Given the description of an element on the screen output the (x, y) to click on. 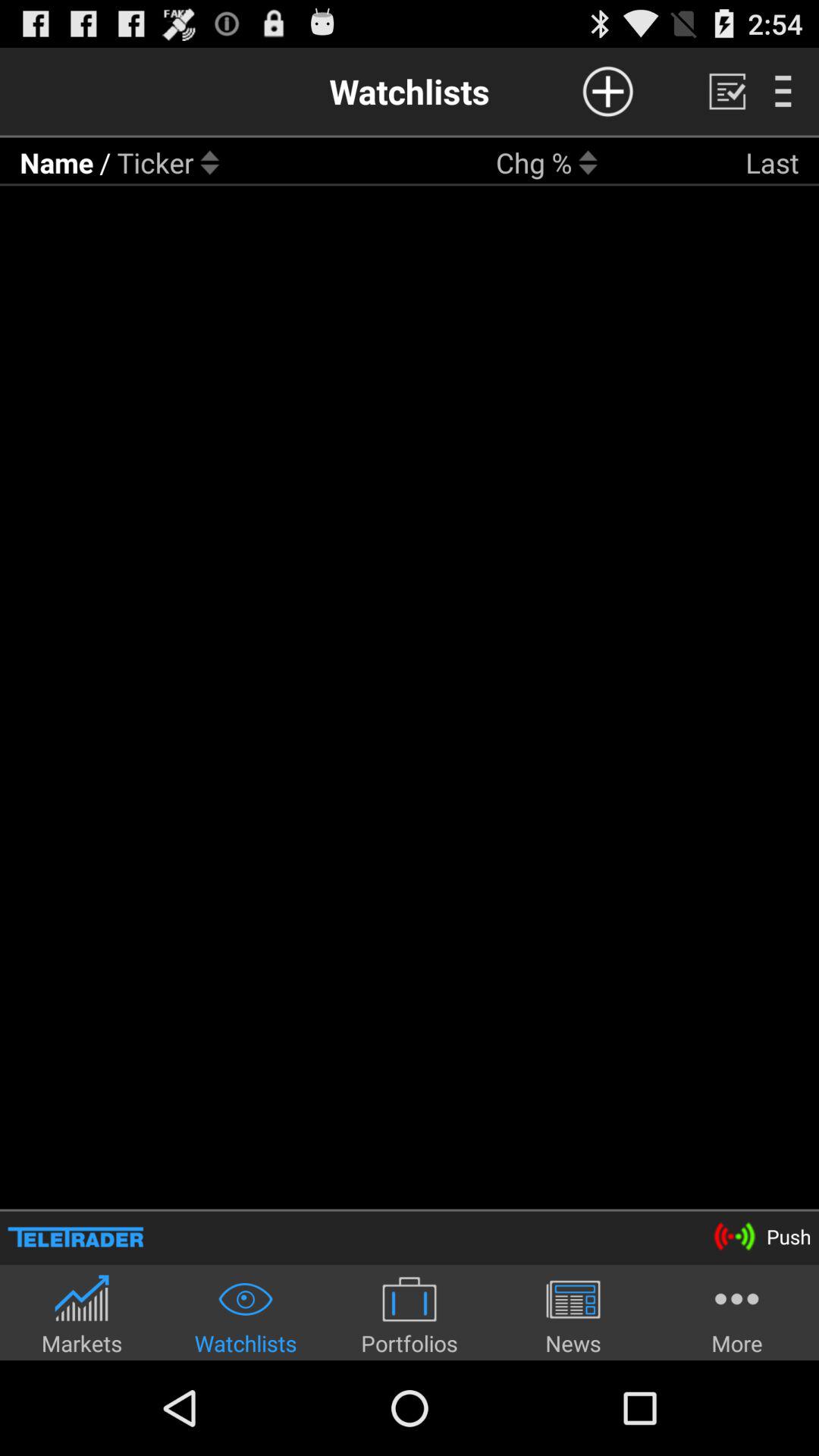
launch markets item (81, 1314)
